Given the description of an element on the screen output the (x, y) to click on. 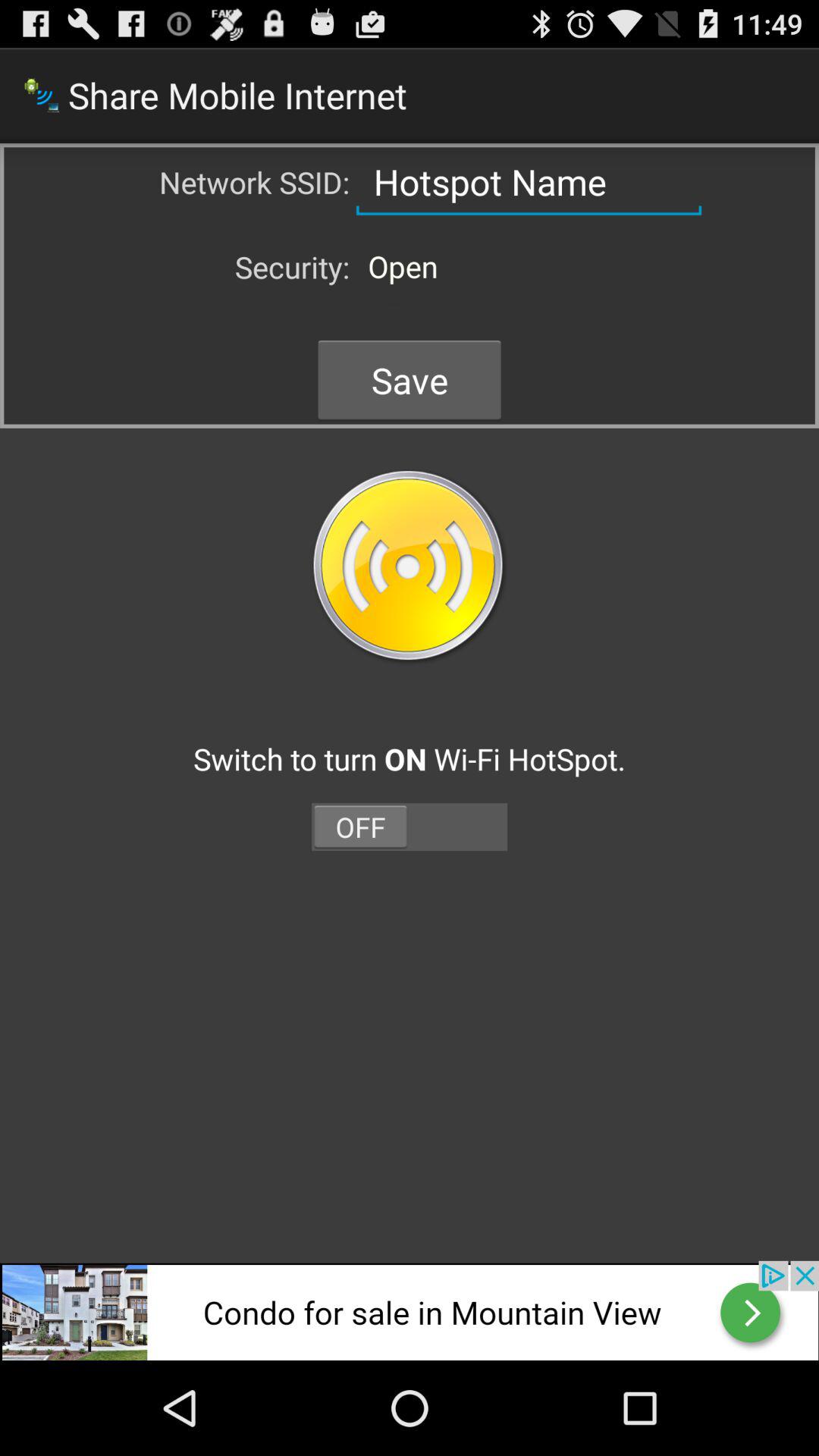
advertisement (409, 1310)
